Given the description of an element on the screen output the (x, y) to click on. 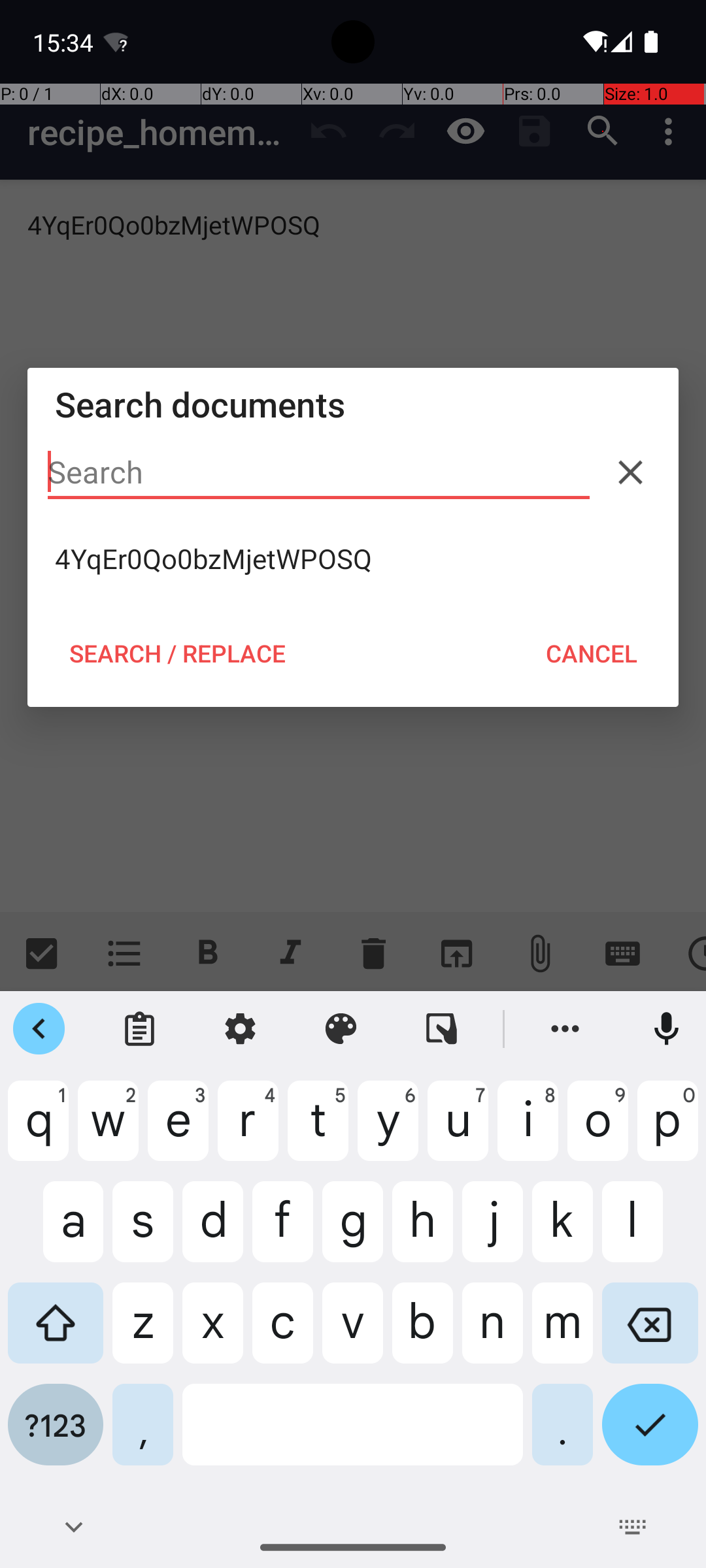
4YqEr0Qo0bzMjetWPOSQ Element type: android.widget.TextView (352, 558)
